Given the description of an element on the screen output the (x, y) to click on. 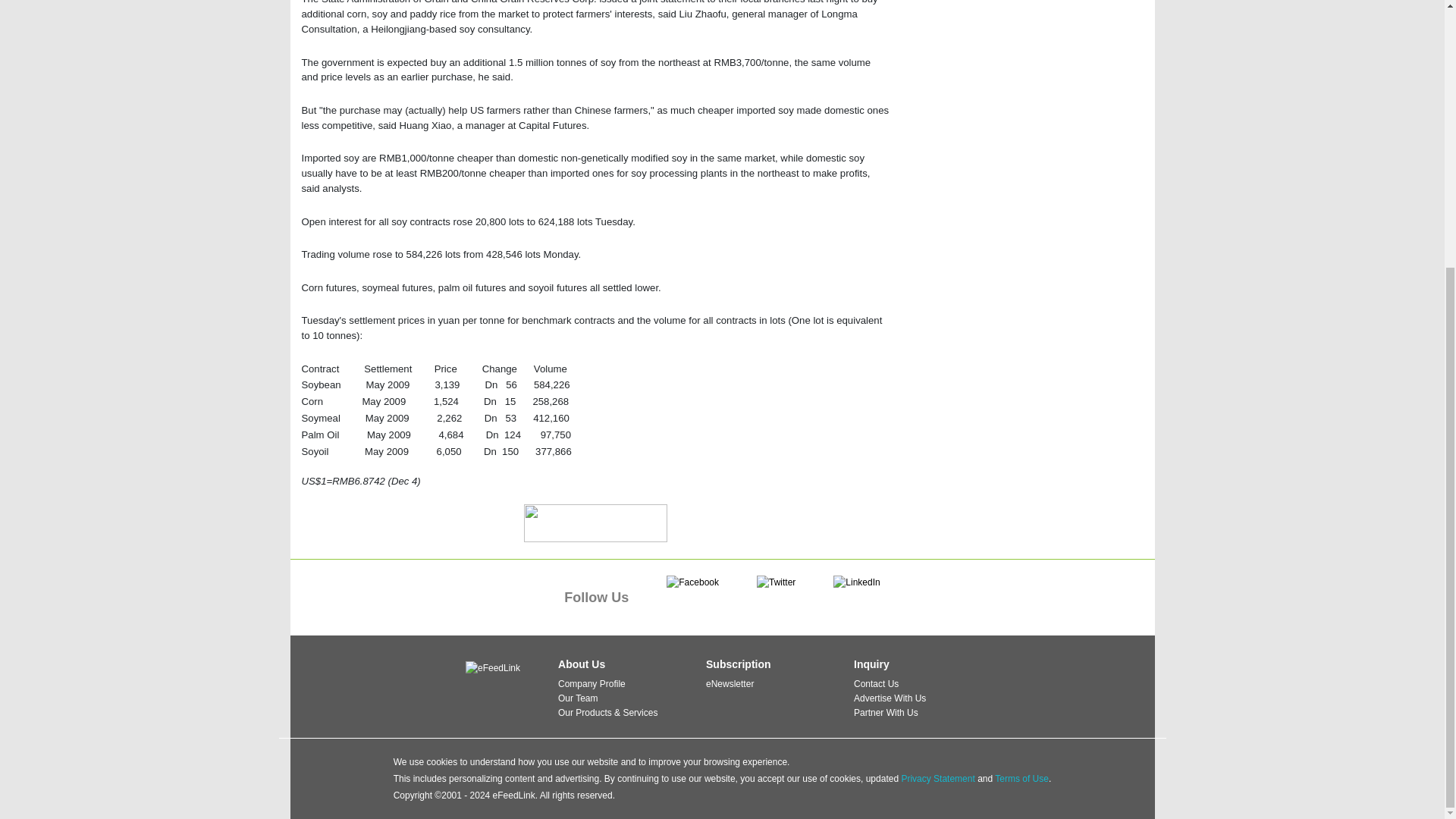
eNewsletter (730, 683)
Partner With Us (885, 712)
Contact Us (875, 683)
Terms of Use (1021, 778)
Advertise With Us (889, 697)
Our Team (576, 697)
Privacy Statement (937, 778)
Company Profile (591, 683)
